Given the description of an element on the screen output the (x, y) to click on. 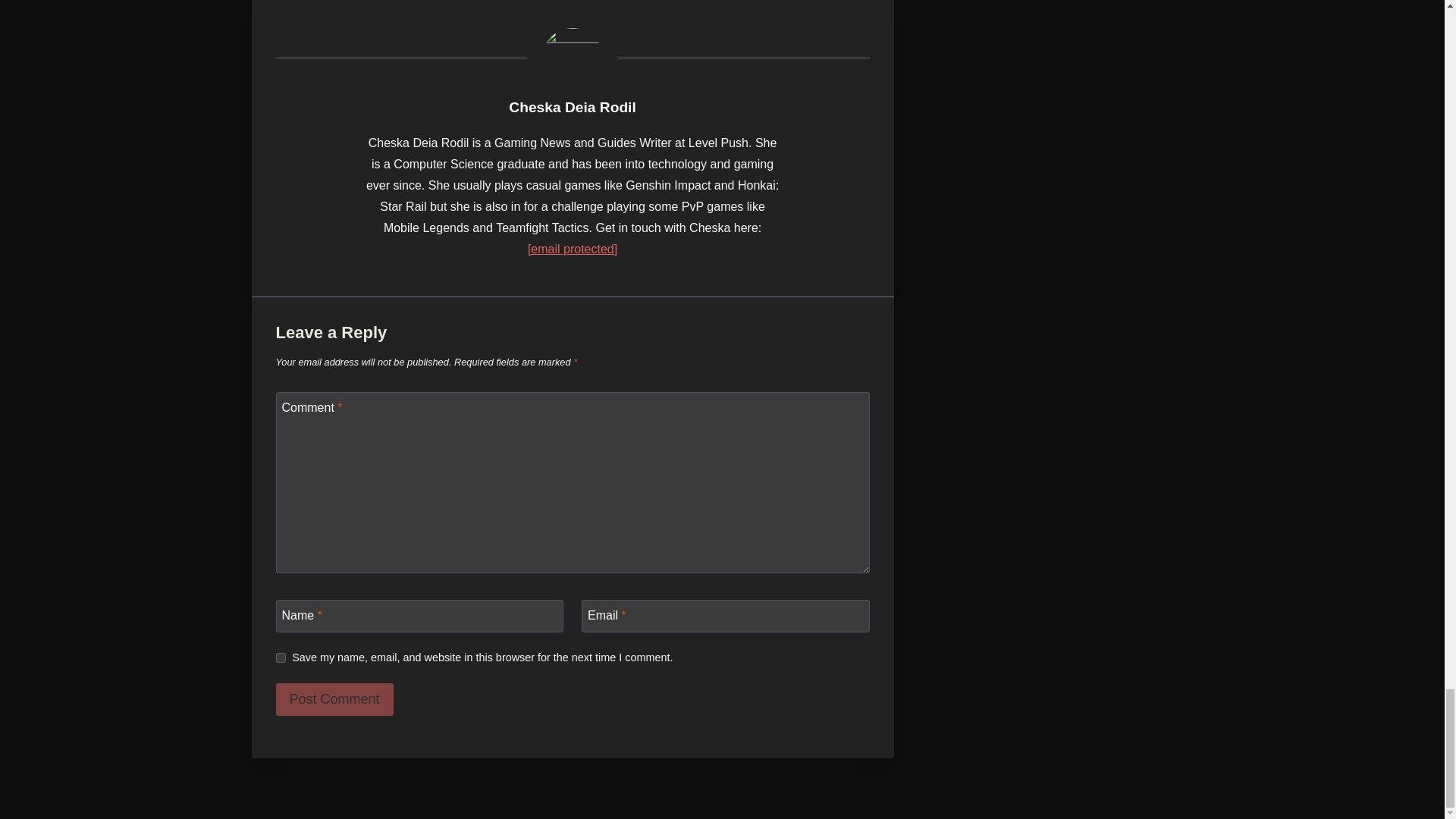
Post Comment (334, 699)
Cheska Deia Rodil (571, 107)
Posts by Cheska Deia Rodil (571, 107)
yes (280, 657)
Post Comment (334, 699)
